Given the description of an element on the screen output the (x, y) to click on. 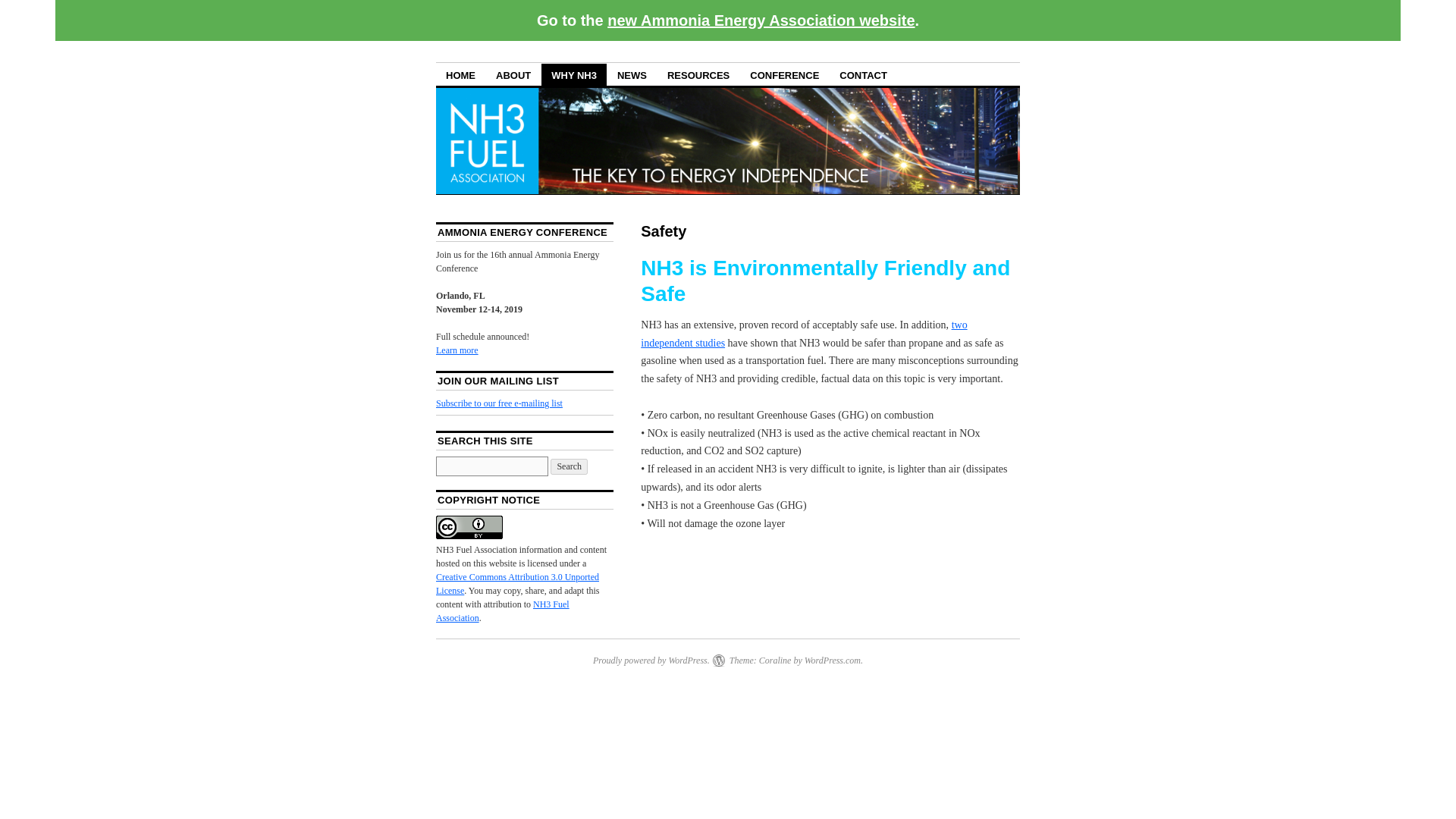
ABOUT (513, 74)
NEWS (631, 74)
Search (569, 466)
CONFERENCE (783, 74)
WordPress.com (832, 660)
new Ammonia Energy Association website (760, 20)
Publications (803, 333)
Search (569, 466)
Creative Commons Attribution 3.0 Unported License (516, 583)
NH3 Fuel Association (502, 610)
